Given the description of an element on the screen output the (x, y) to click on. 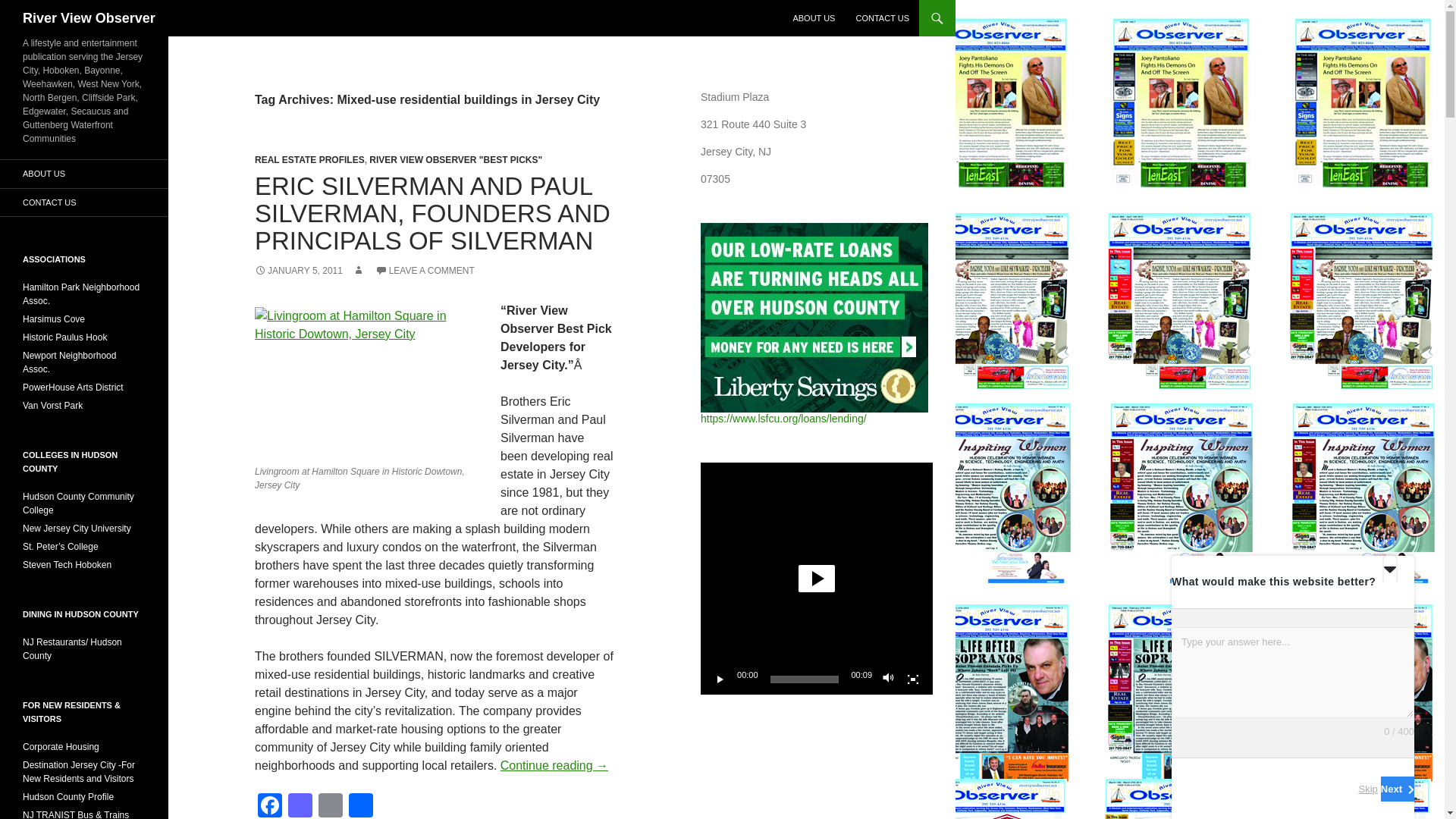
JANUARY 5, 2011 (298, 270)
CONTACT US (881, 18)
Fullscreen (912, 679)
River View Observer (89, 18)
Mastodon (300, 806)
Mute (888, 679)
Facebook (269, 806)
Email (330, 806)
Facebook (269, 806)
Email (330, 806)
Play (720, 679)
REAL ESTATE PROFILES (309, 159)
RIVER VIEW OBSERVER "BEST PICKS" (455, 159)
LEAVE A COMMENT (424, 270)
